Given the description of an element on the screen output the (x, y) to click on. 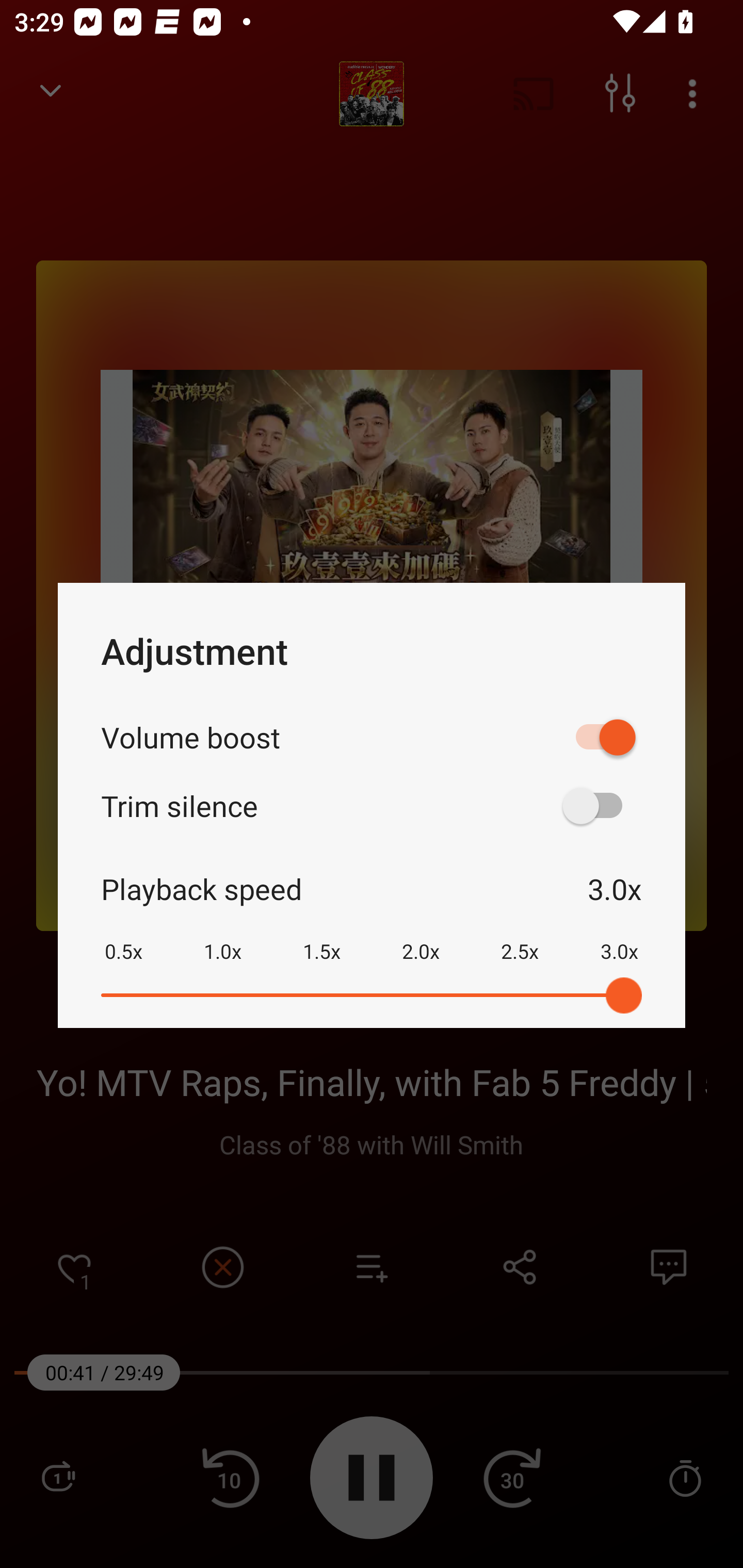
0.5x (123, 937)
1.0x (222, 937)
1.5x (321, 937)
2.0x (420, 937)
2.5x (519, 937)
3.0x (618, 937)
